Given the description of an element on the screen output the (x, y) to click on. 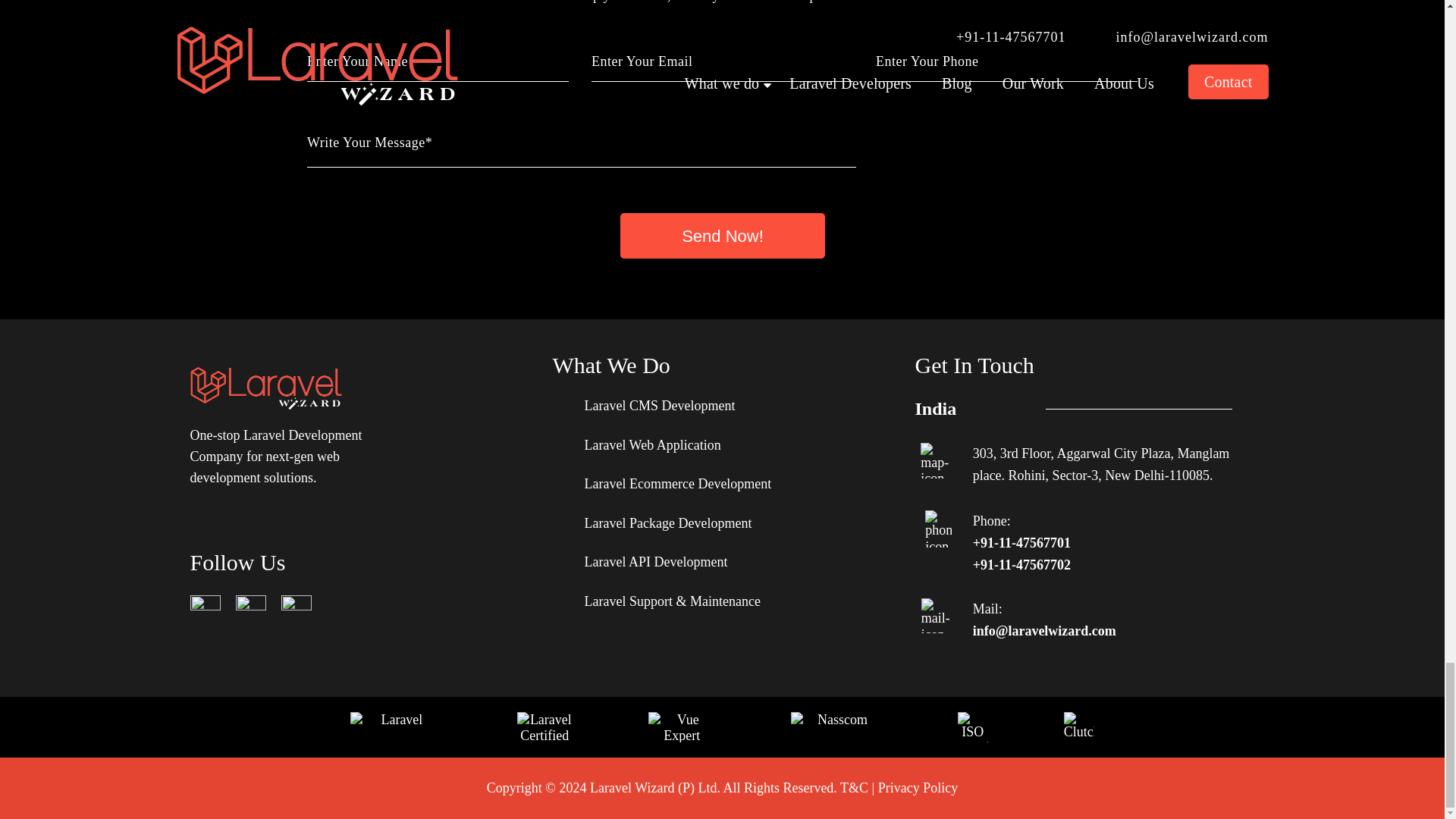
Send Now! (722, 235)
Laravel Wizard (264, 387)
Send Now! (722, 235)
